Given the description of an element on the screen output the (x, y) to click on. 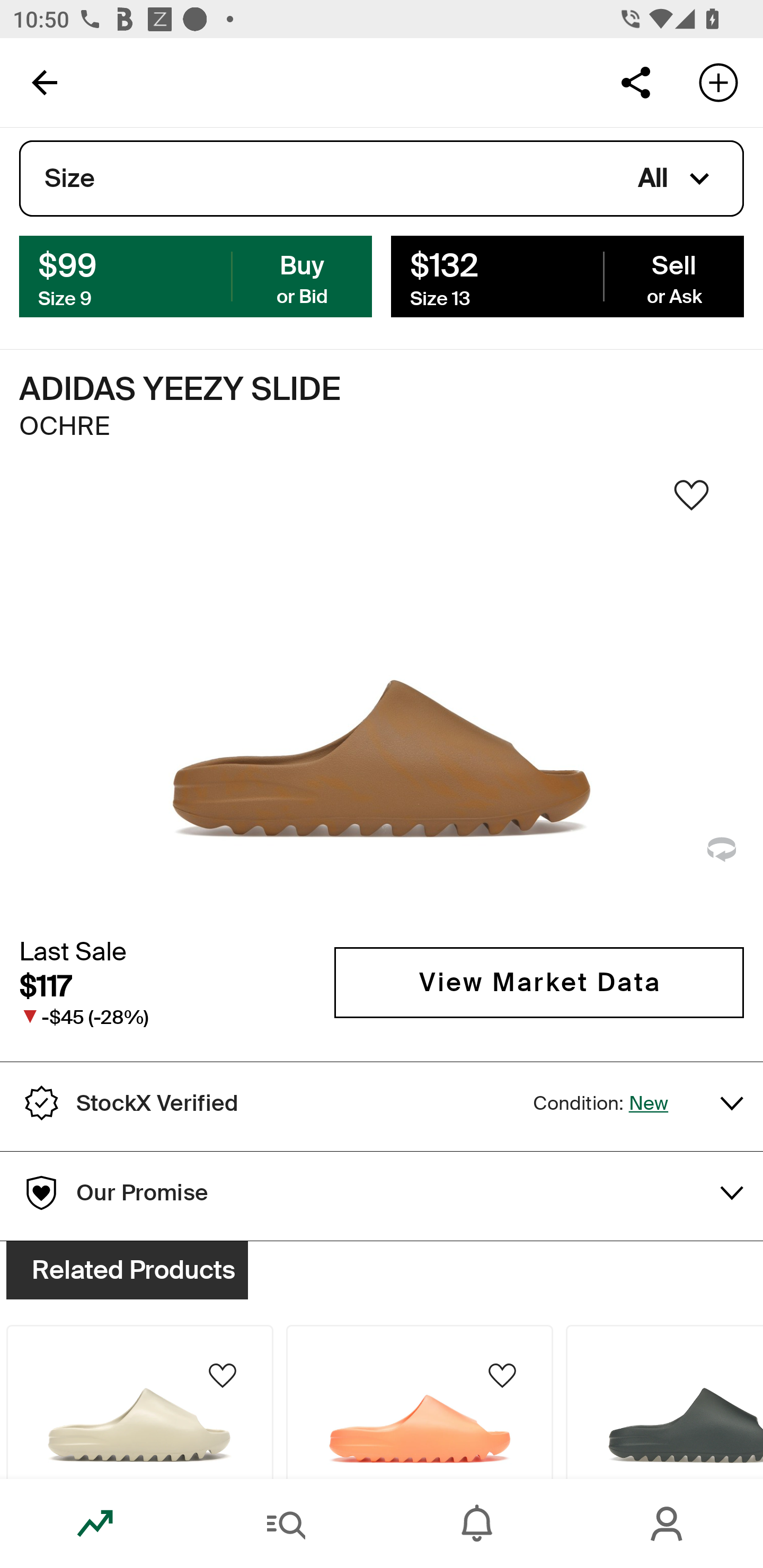
Share (635, 81)
Add (718, 81)
Size All (381, 178)
$99 Buy Size 9 or Bid (195, 275)
$132 Sell Size 13 or Ask (566, 275)
Sneaker Image (381, 699)
View Market Data (538, 982)
Product Image (139, 1401)
Product Image (419, 1401)
Product Image (664, 1401)
Search (285, 1523)
Inbox (476, 1523)
Account (667, 1523)
